Given the description of an element on the screen output the (x, y) to click on. 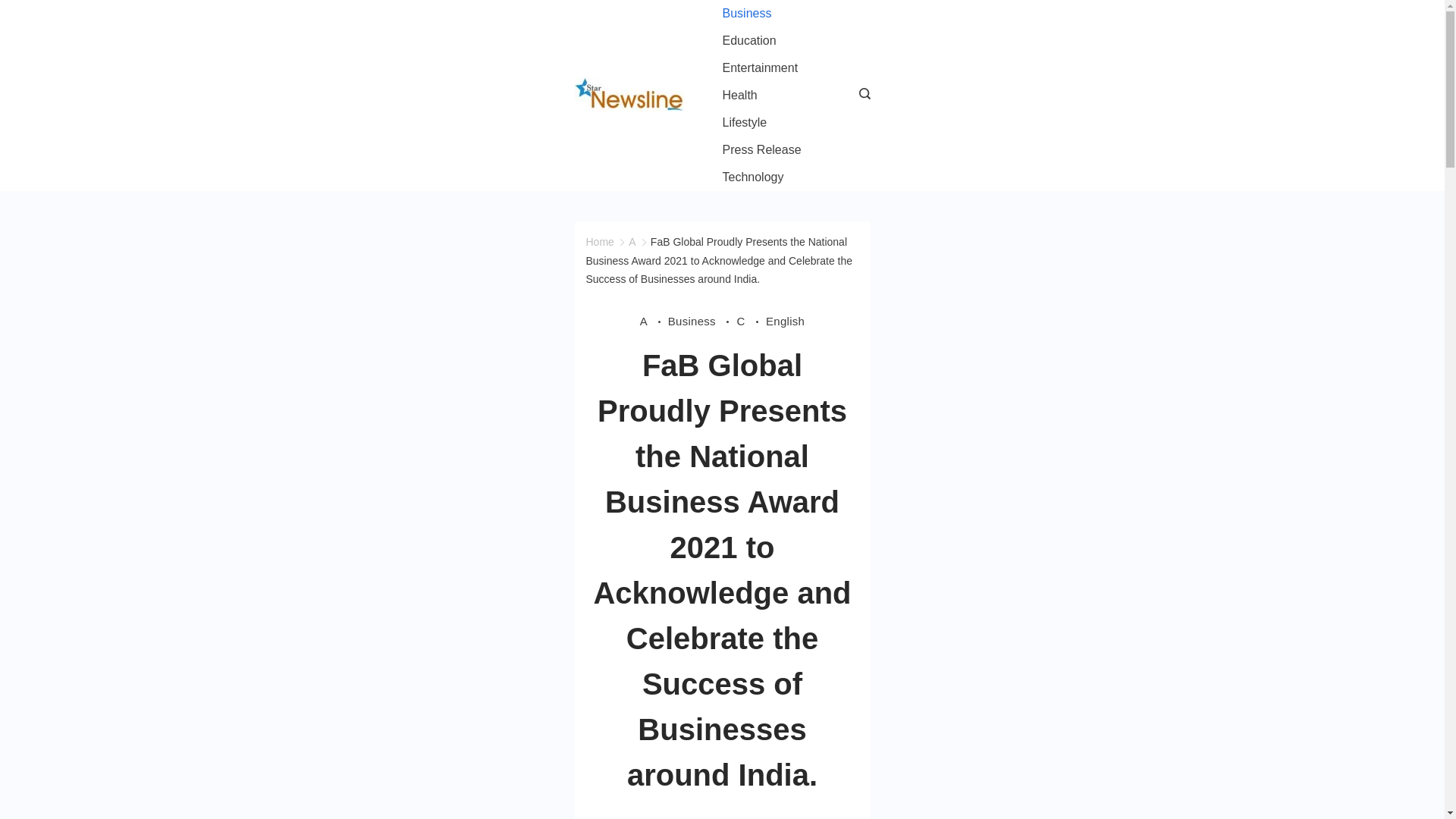
Health (739, 94)
Press Release (762, 149)
C (750, 320)
English (785, 320)
Entertainment (759, 67)
Education (748, 40)
Business (702, 320)
Lifestyle (744, 122)
A (654, 320)
Business (746, 13)
Home (598, 241)
Technology (753, 176)
